Given the description of an element on the screen output the (x, y) to click on. 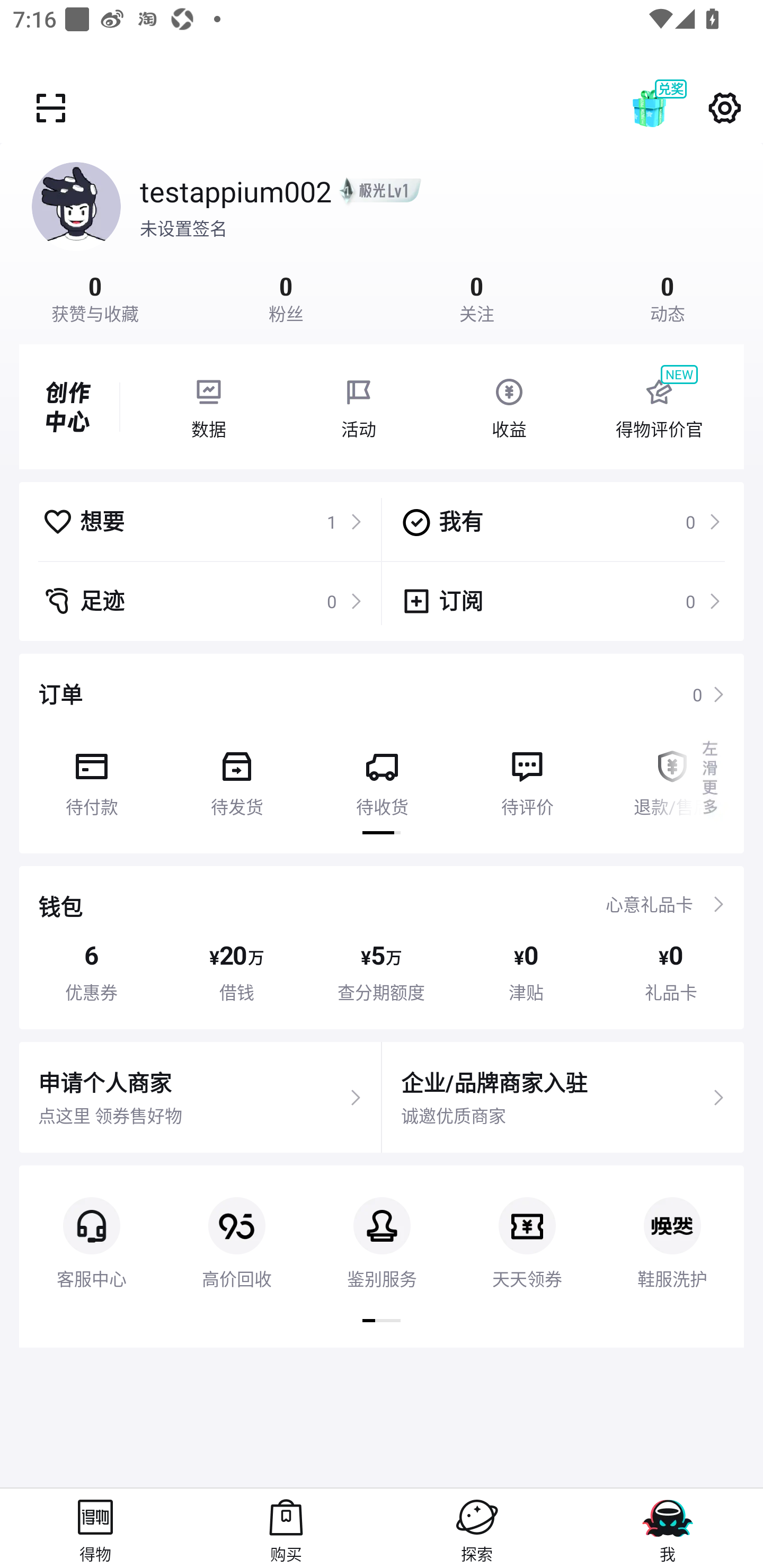
兑奖 (667, 107)
testappium002 未设置签名 0 获赞与收藏 0 粉丝 0 关注 0 动态 (381, 233)
0 获赞与收藏 (95, 296)
0 粉丝 (285, 296)
0 关注 (476, 296)
0 动态 (667, 296)
数据 (208, 406)
活动 (358, 406)
收益 (508, 406)
NEW 得物评价官 (658, 406)
想要 1 (201, 521)
我有 0 (560, 521)
足迹 0 (201, 601)
订阅 0 (560, 601)
订单 0 待付款 待发货 待收货 待评价 退款/售后 (381, 752)
待付款 (91, 776)
待发货 (236, 776)
待收货 (381, 776)
待评价 (526, 776)
退款/售后 (671, 776)
心意礼品卡 (648, 903)
6 优惠券 (91, 971)
¥ 20 万 借钱 (236, 971)
¥ 5 万 查分期额度 (381, 971)
¥ 0 津贴 (525, 971)
¥ 0 礼品卡 (670, 971)
申请个人商家 点这里 领券售好物 (199, 1097)
企业/品牌商家入驻 诚邀优质商家 (562, 1097)
客服中心 (91, 1227)
高价回收 (236, 1227)
鉴别服务 (381, 1227)
天天领券 (526, 1227)
鞋服洗护 (671, 1227)
得物 (95, 1528)
购买 (285, 1528)
探索 (476, 1528)
我 (667, 1528)
